Given the description of an element on the screen output the (x, y) to click on. 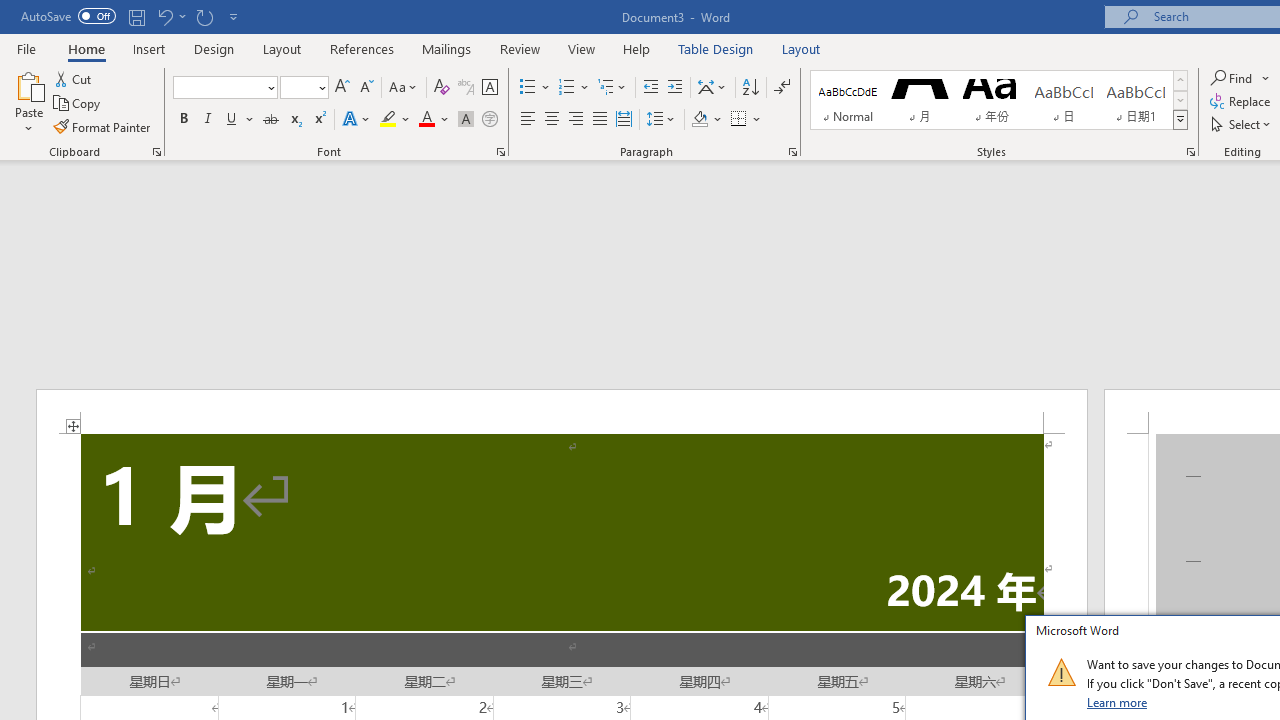
Distributed (623, 119)
Text Effects and Typography (357, 119)
Font (224, 87)
Asian Layout (712, 87)
Help (637, 48)
Font... (500, 151)
Strikethrough (270, 119)
View (582, 48)
Find (1233, 78)
Undo Apply Quick Style (170, 15)
Center (552, 119)
Clear Formatting (442, 87)
Borders (746, 119)
Copy (78, 103)
Paste (28, 102)
